Given the description of an element on the screen output the (x, y) to click on. 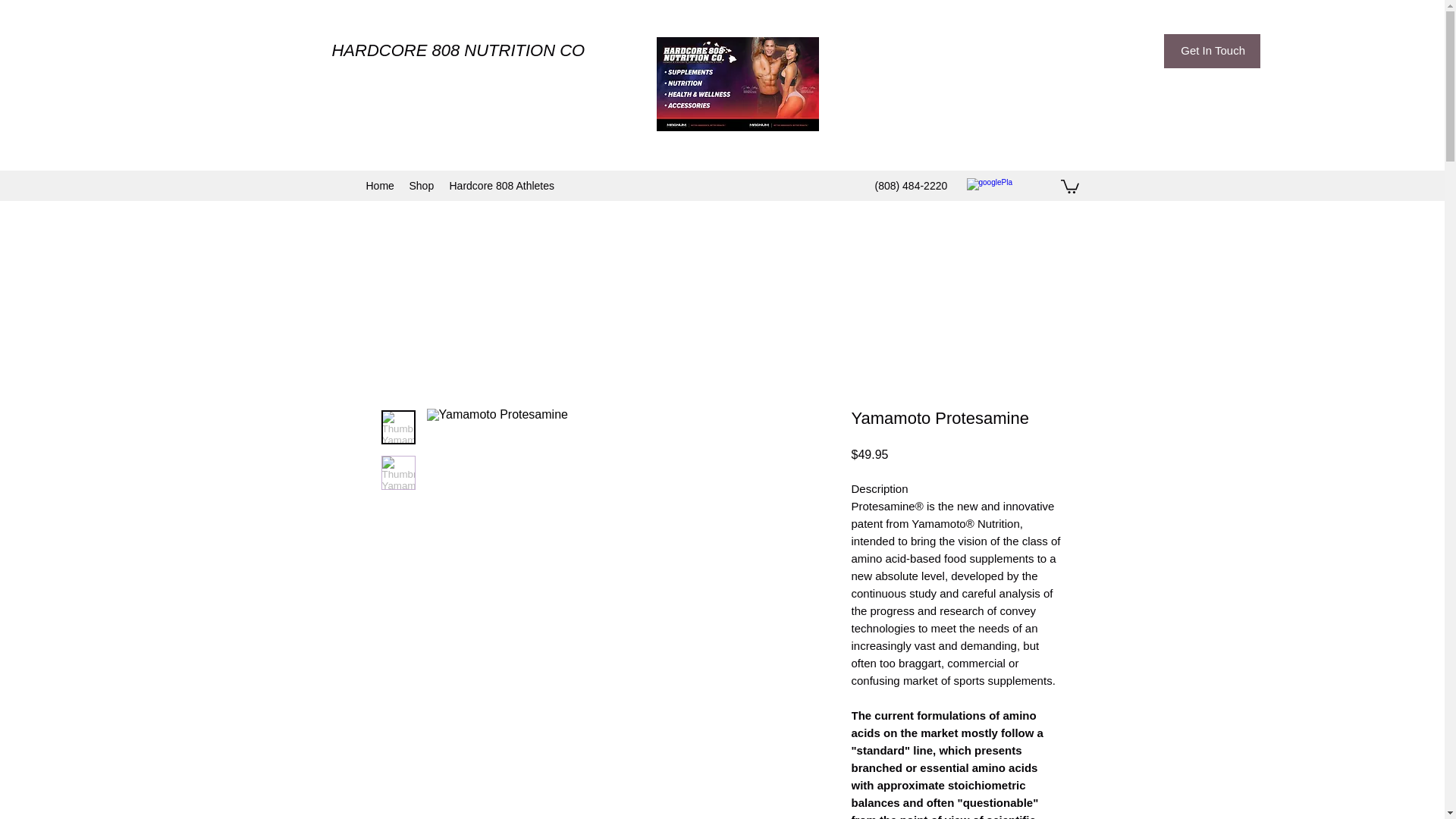
NUTRITION CO (524, 49)
HARDCORE (380, 49)
Get In Touch (1211, 50)
Home (379, 185)
808 (447, 49)
Shop (421, 185)
Hardcore 808 Athletes (501, 185)
